Given the description of an element on the screen output the (x, y) to click on. 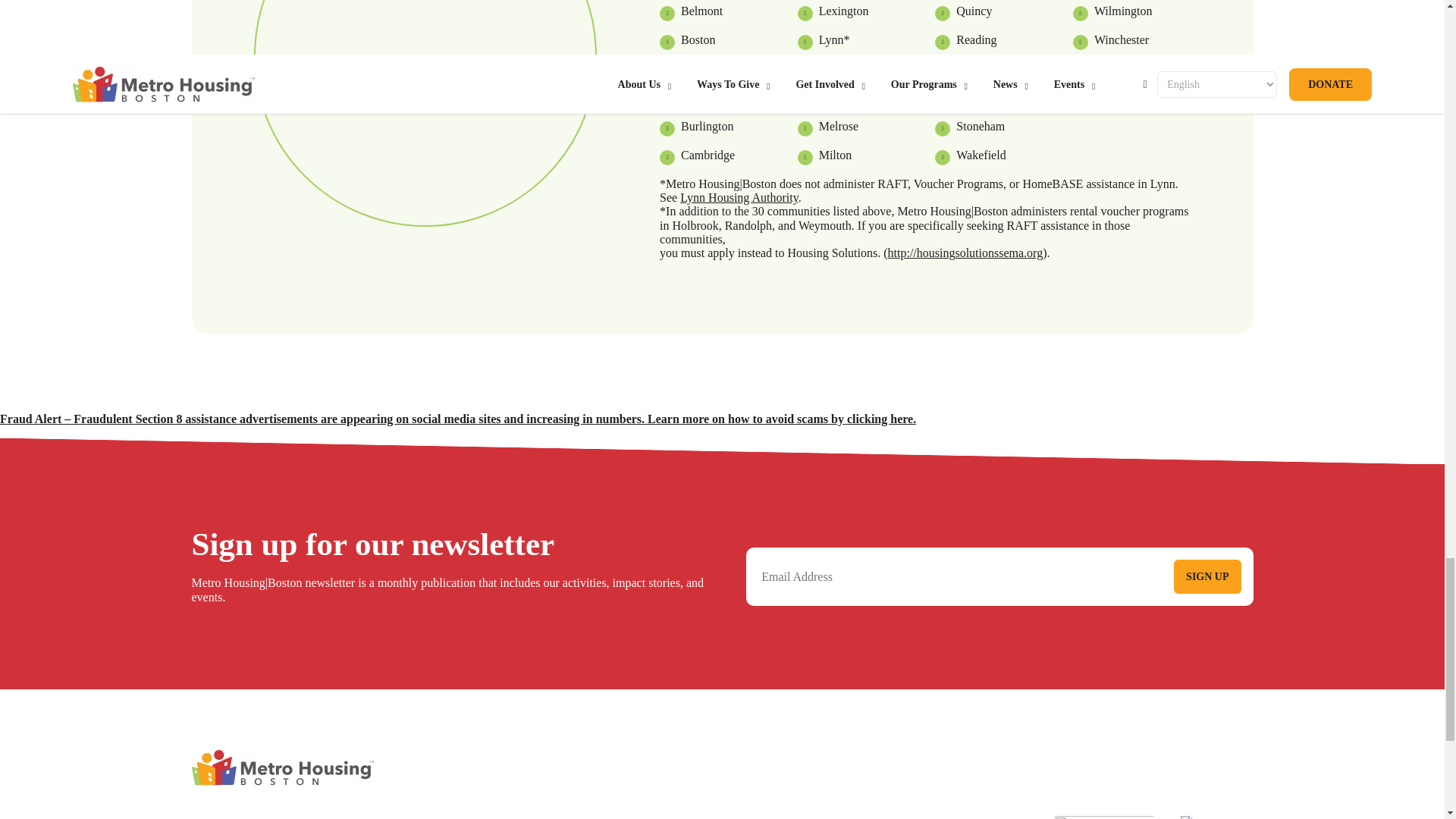
Sign Up (1206, 576)
